Given the description of an element on the screen output the (x, y) to click on. 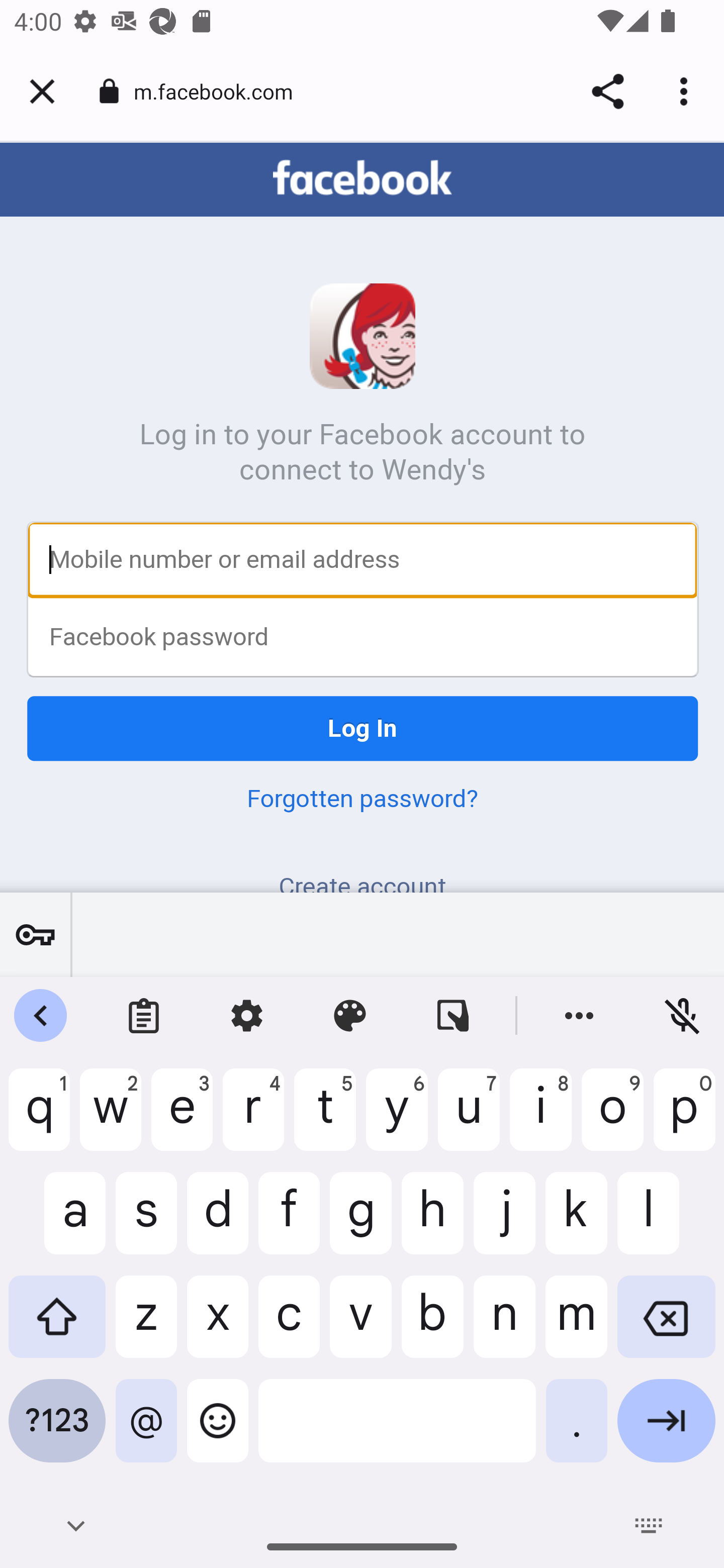
Close tab (42, 91)
Share (607, 91)
More options (687, 91)
Connection is secure (108, 91)
m.facebook.com (219, 90)
facebook (361, 179)
Log In (363, 729)
Forgotten password? (362, 800)
Create account (362, 882)
Show passwords (35, 934)
